Given the description of an element on the screen output the (x, y) to click on. 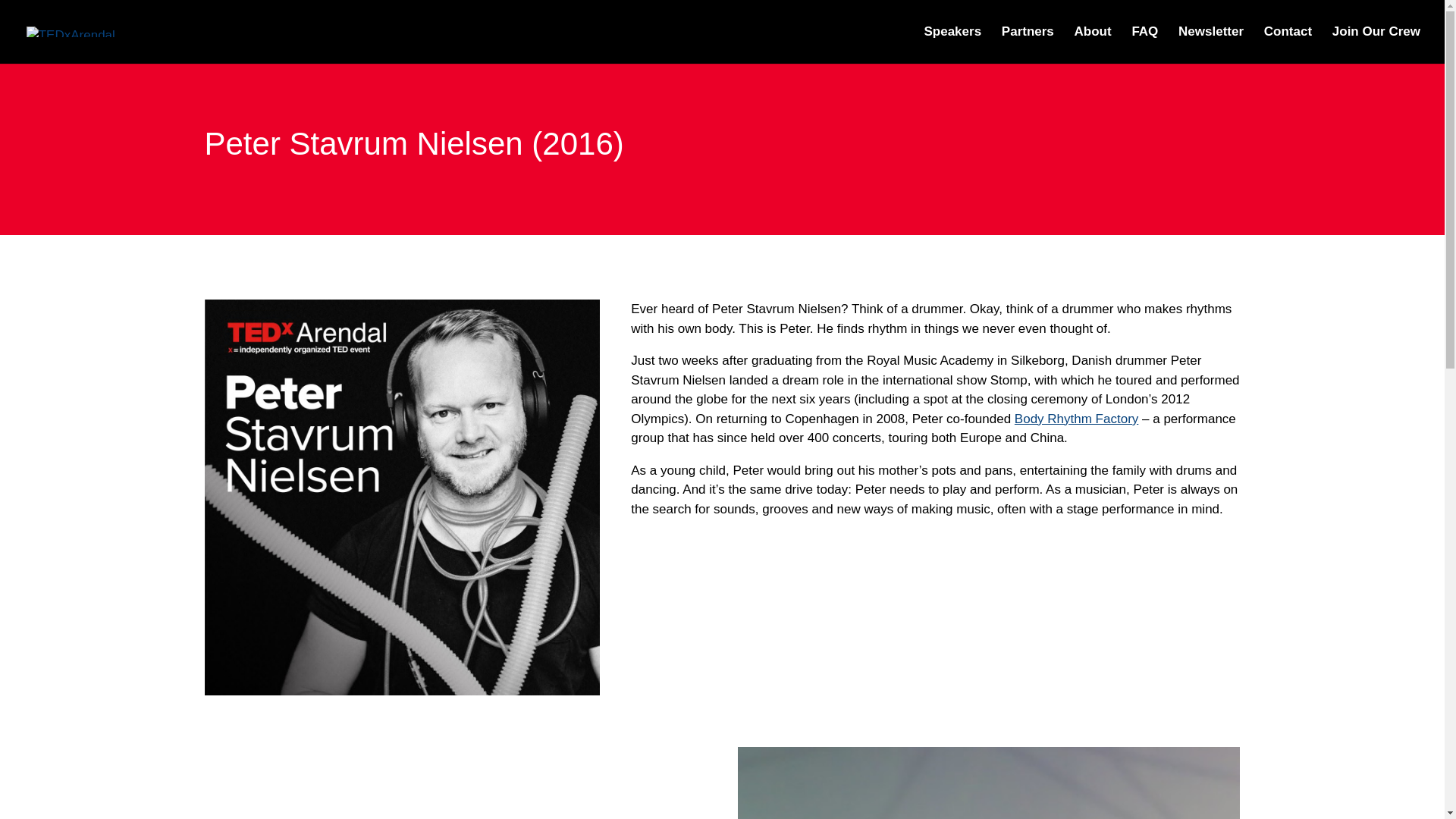
Join Our Crew (1376, 44)
Body Rhythm Factory (1076, 418)
Contact (1287, 44)
Speakers (952, 44)
Newsletter (1210, 44)
Partners (1027, 44)
About (1093, 44)
FAQ (1144, 44)
